Given the description of an element on the screen output the (x, y) to click on. 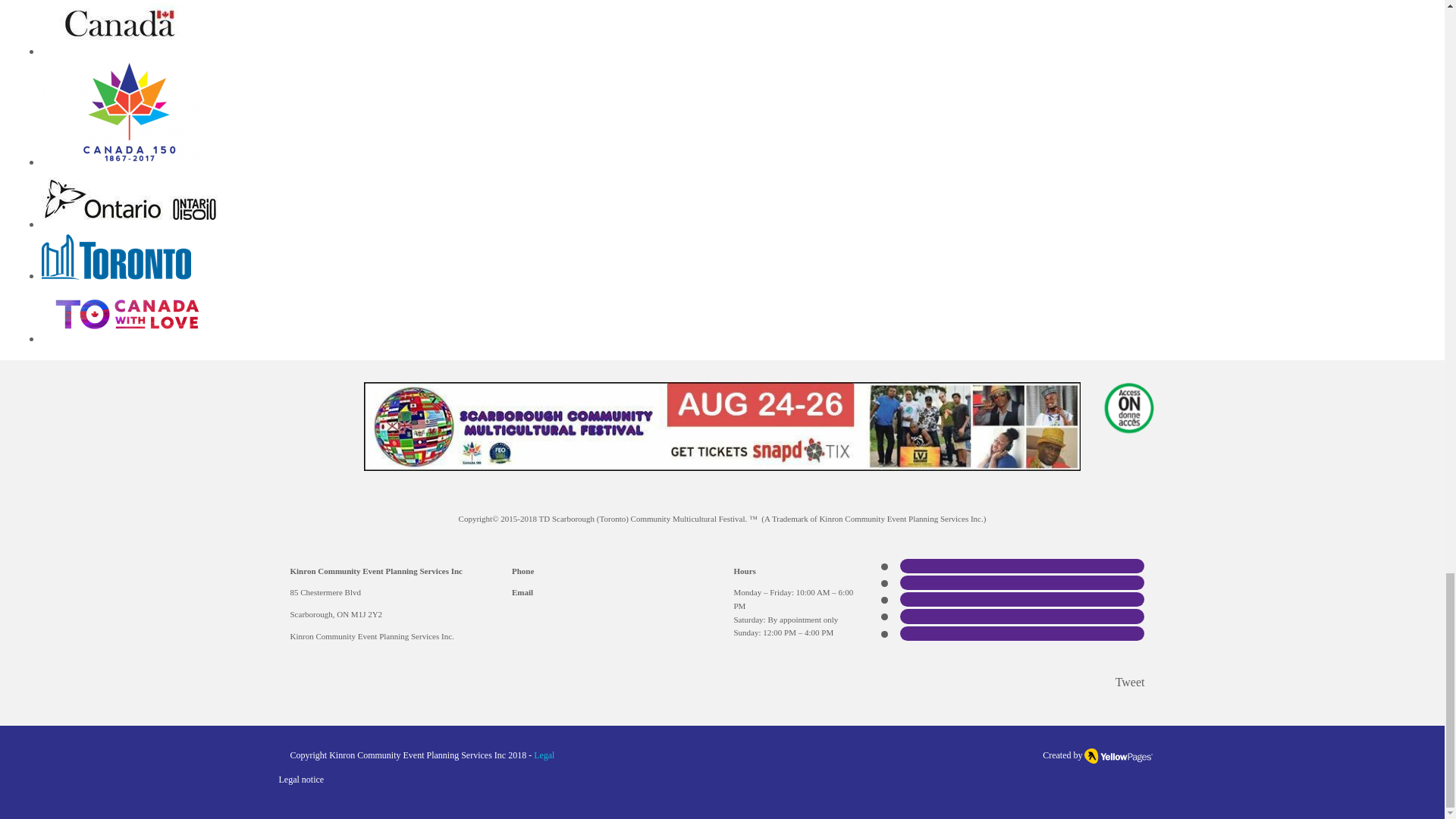
Legal (544, 755)
